Given the description of an element on the screen output the (x, y) to click on. 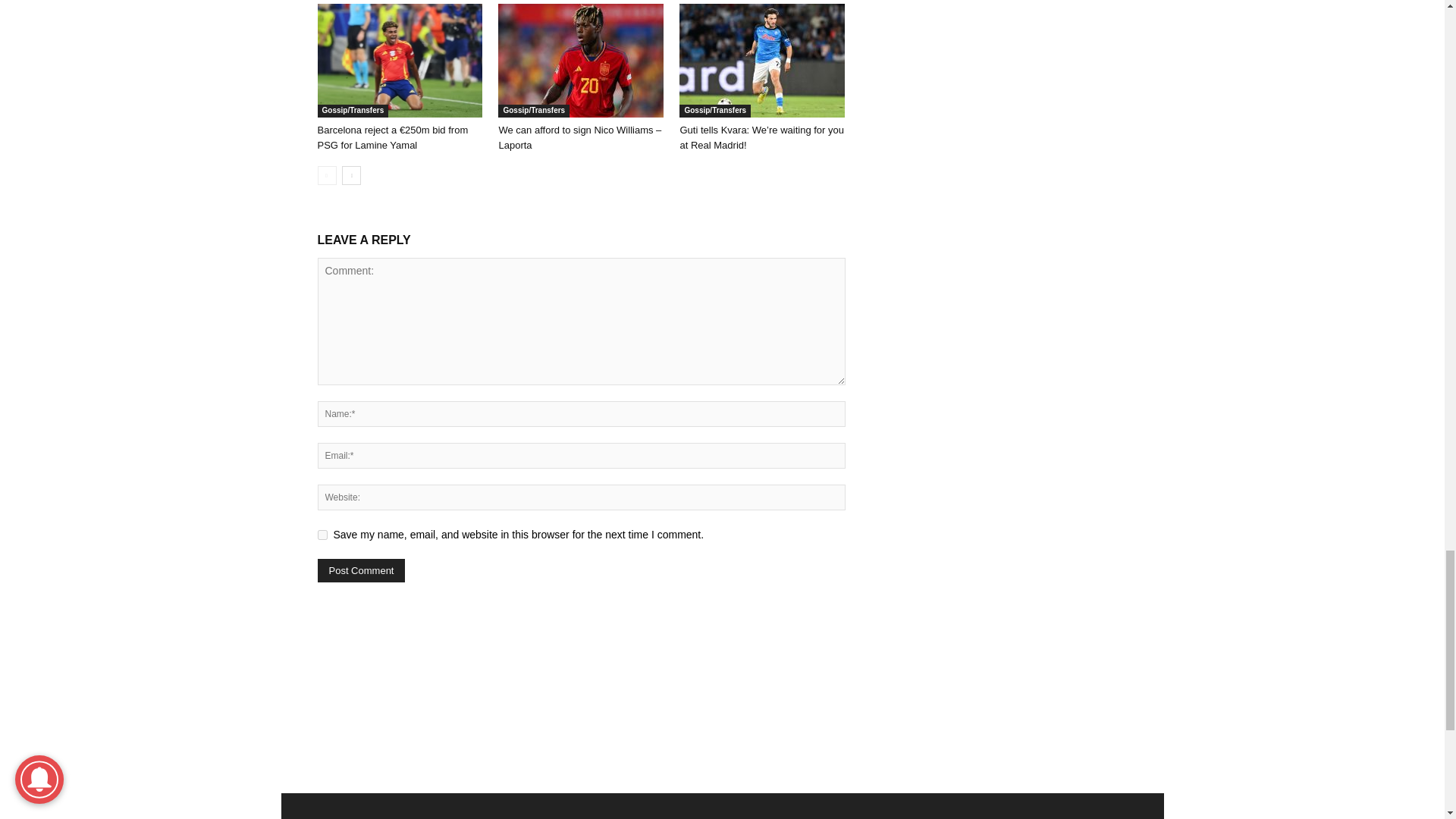
yes (321, 534)
Post Comment (360, 570)
